Given the description of an element on the screen output the (x, y) to click on. 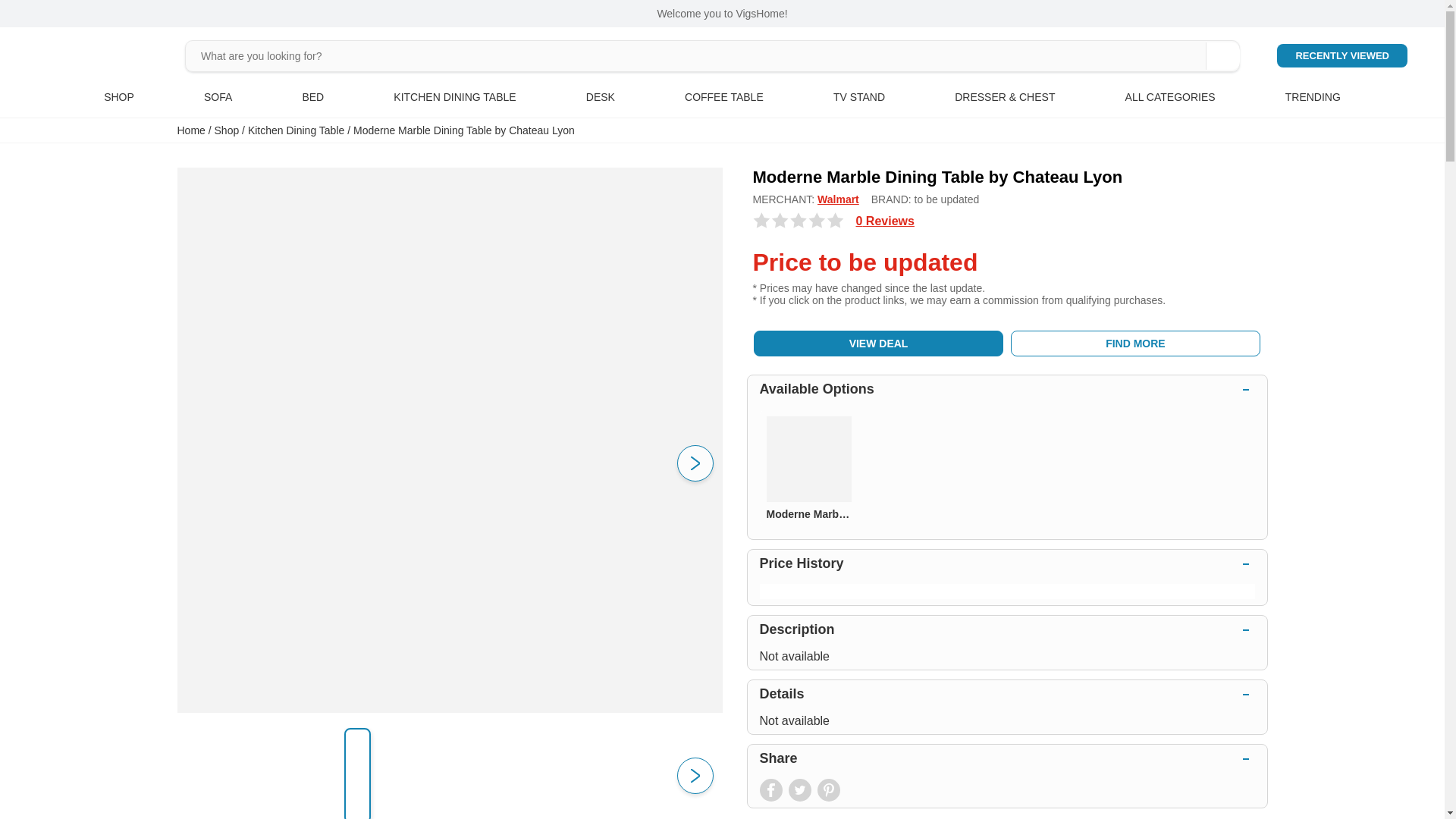
ALL CATEGORIES (1170, 96)
Kitchen Dining Table (295, 130)
COFFEE TABLE (723, 96)
Walmart (837, 199)
VIEW DEAL (879, 343)
KITCHEN DINING TABLE (454, 96)
Home (191, 130)
TV STAND (858, 96)
Moderne Marble Dining Table by Chateau Lyon (464, 130)
TRENDING (1312, 96)
Shop (227, 130)
